Given the description of an element on the screen output the (x, y) to click on. 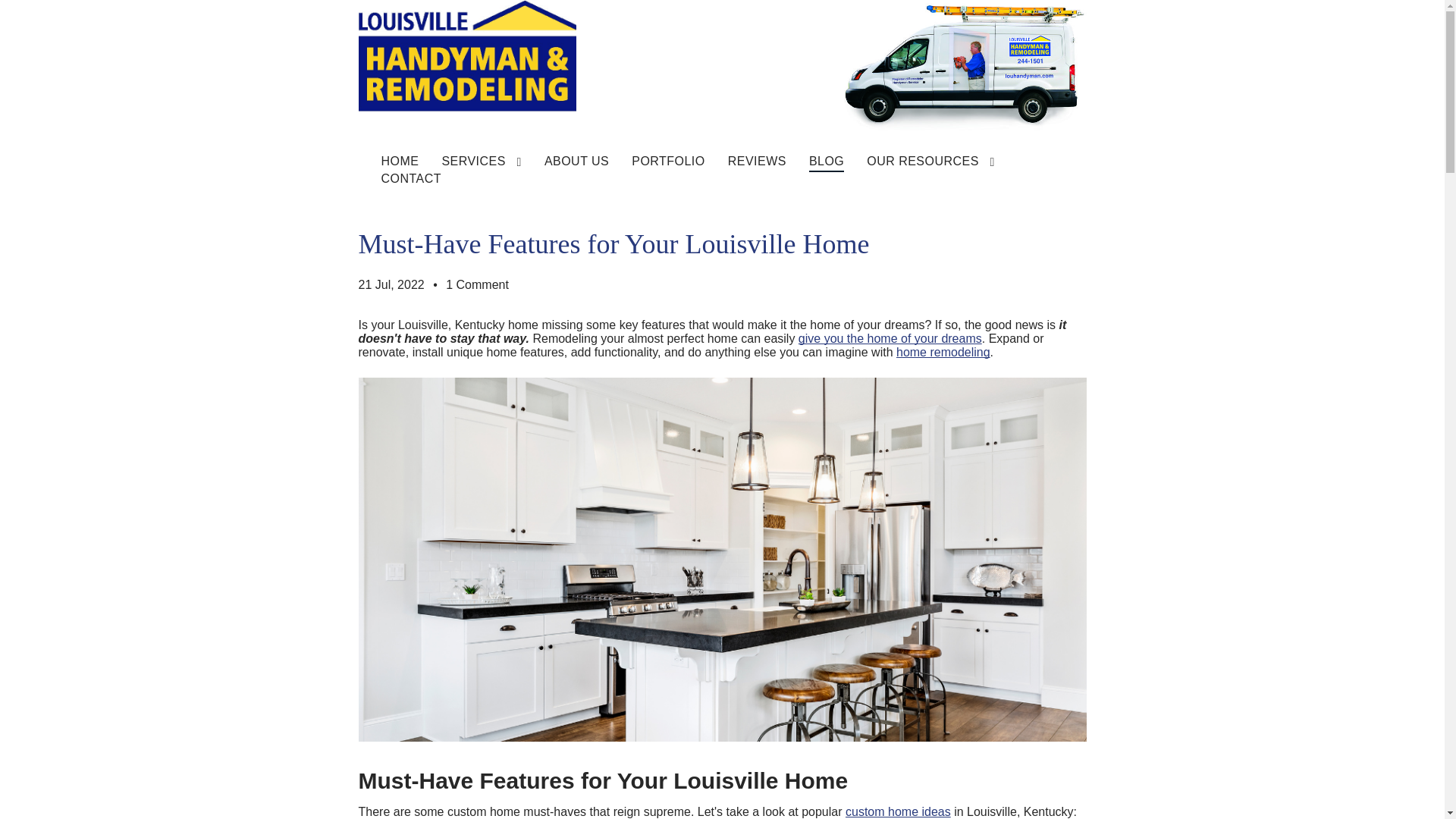
CONTACT (410, 178)
give you the home of your dreams (889, 338)
custom home ideas (897, 811)
SERVICES (481, 161)
home remodeling (943, 351)
HOME (399, 161)
newlogo (466, 55)
REVIEWS (757, 161)
PORTFOLIO (667, 161)
ABOUT US (576, 161)
OUR RESOURCES (930, 161)
BLOG (826, 161)
